Given the description of an element on the screen output the (x, y) to click on. 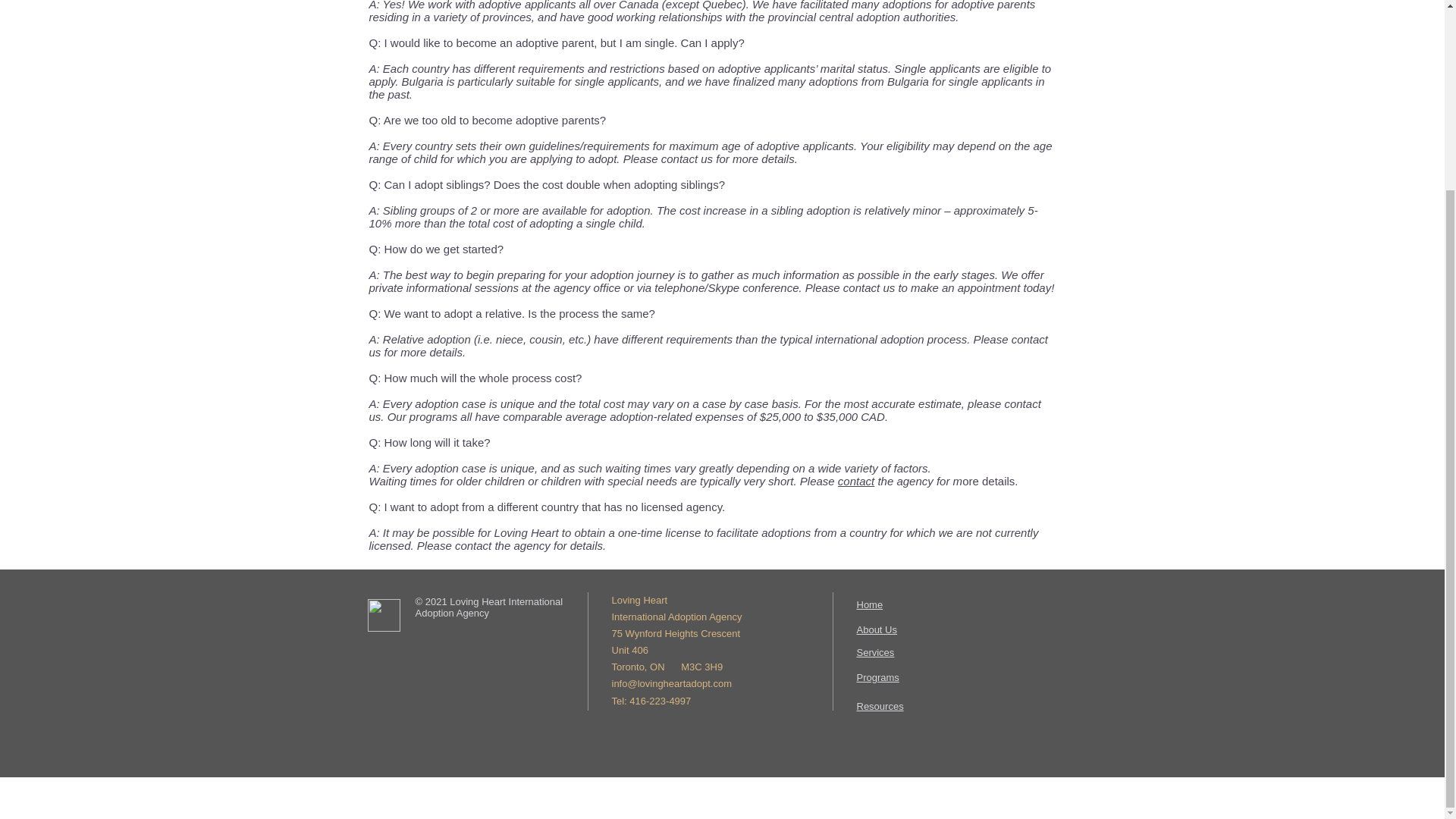
Programs (878, 677)
Home (870, 604)
Resources (880, 706)
About Us (876, 629)
Services (876, 652)
